Given the description of an element on the screen output the (x, y) to click on. 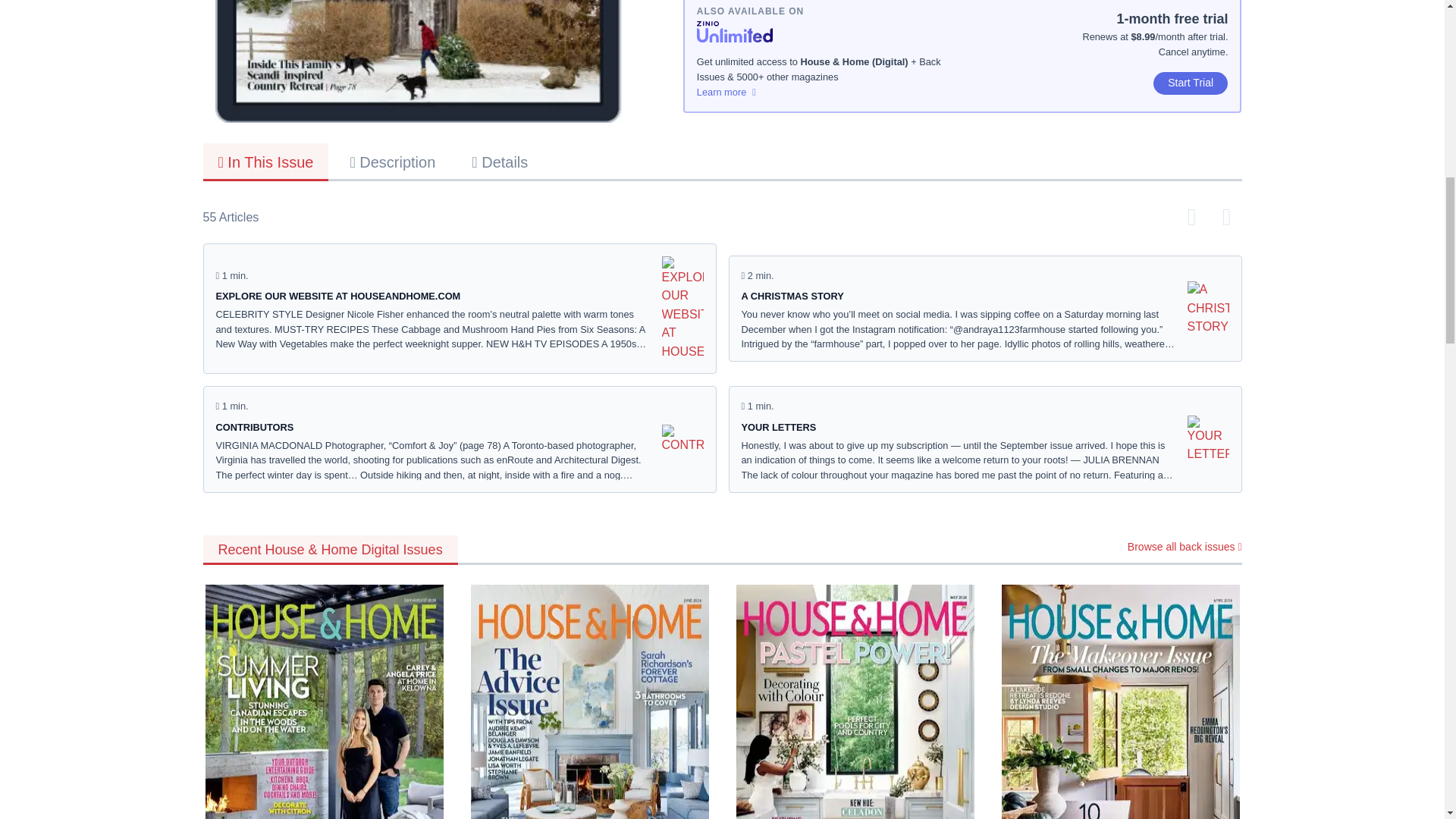
Start Trial (1190, 83)
Learn more (829, 92)
In This Issue (266, 161)
Details (500, 161)
Description (391, 161)
